Given the description of an element on the screen output the (x, y) to click on. 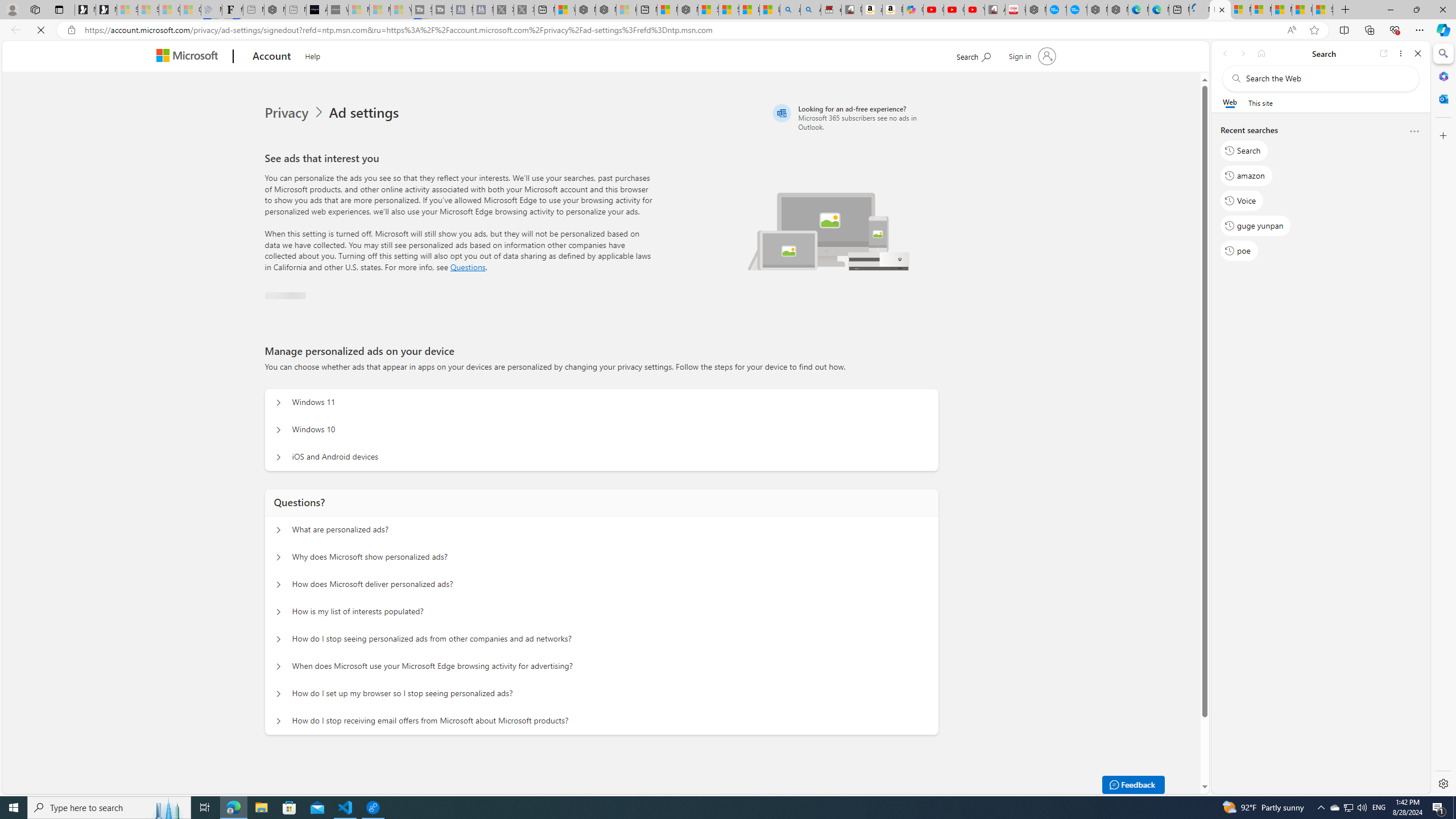
Address and search bar (680, 29)
Copilot (913, 9)
Web scope (1230, 102)
Wildlife - MSN (564, 9)
poe (1238, 250)
Voice (1241, 200)
Microsoft Start Sports - Sleeping (358, 9)
Outlook (1442, 98)
